Given the description of an element on the screen output the (x, y) to click on. 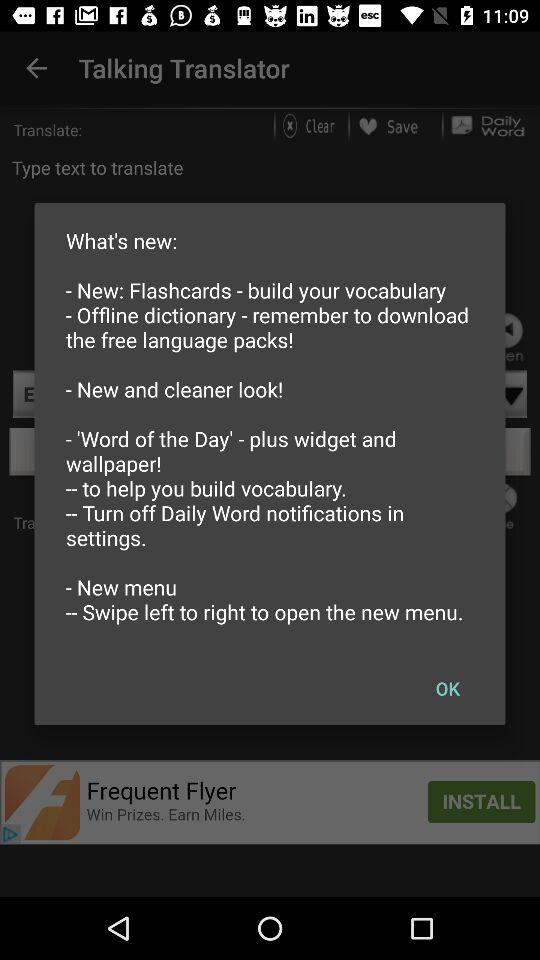
jump until the ok item (447, 688)
